Given the description of an element on the screen output the (x, y) to click on. 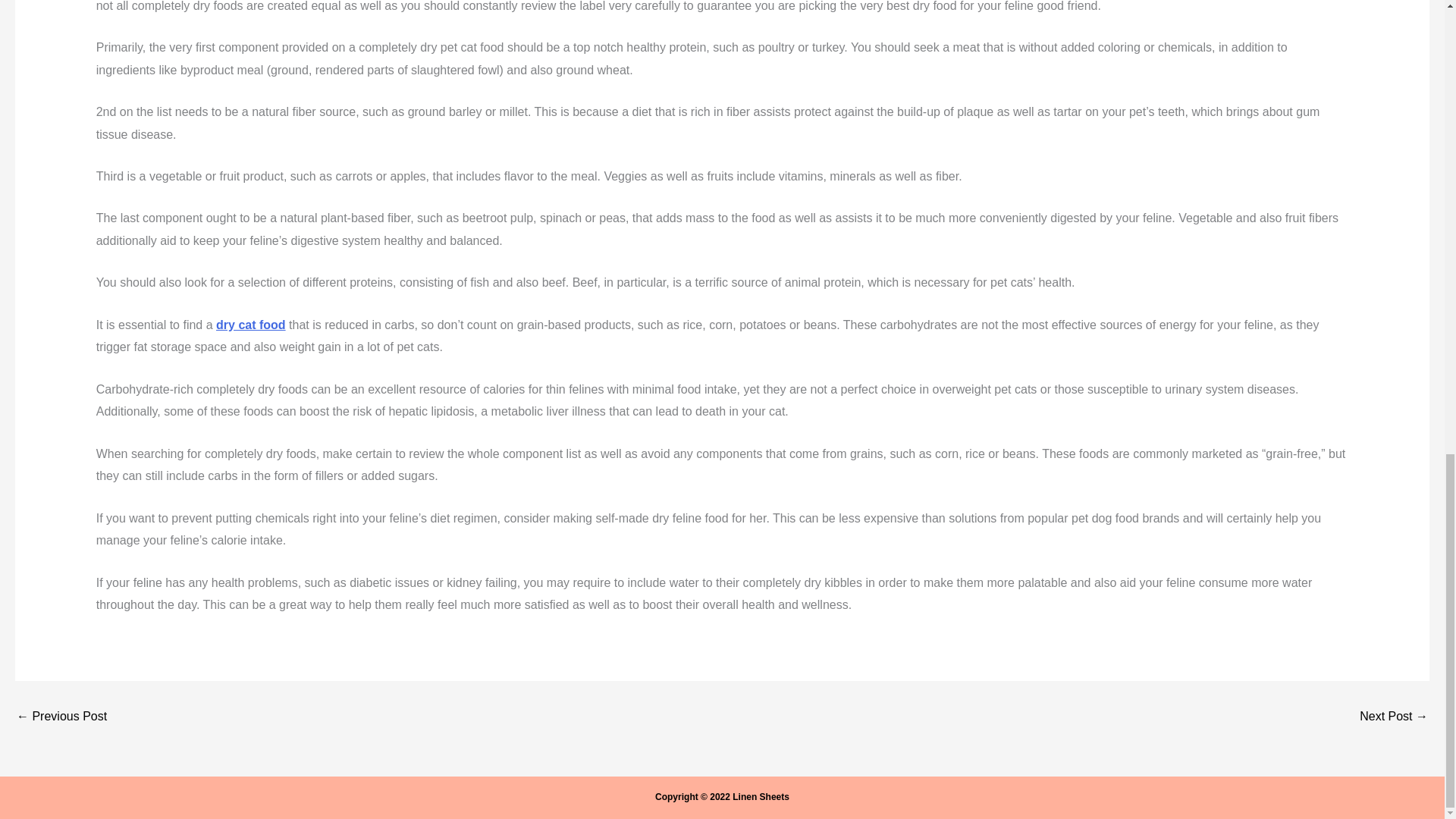
Discovering the very best CBD Oil For Discomfort (61, 716)
dry cat food (250, 324)
